Given the description of an element on the screen output the (x, y) to click on. 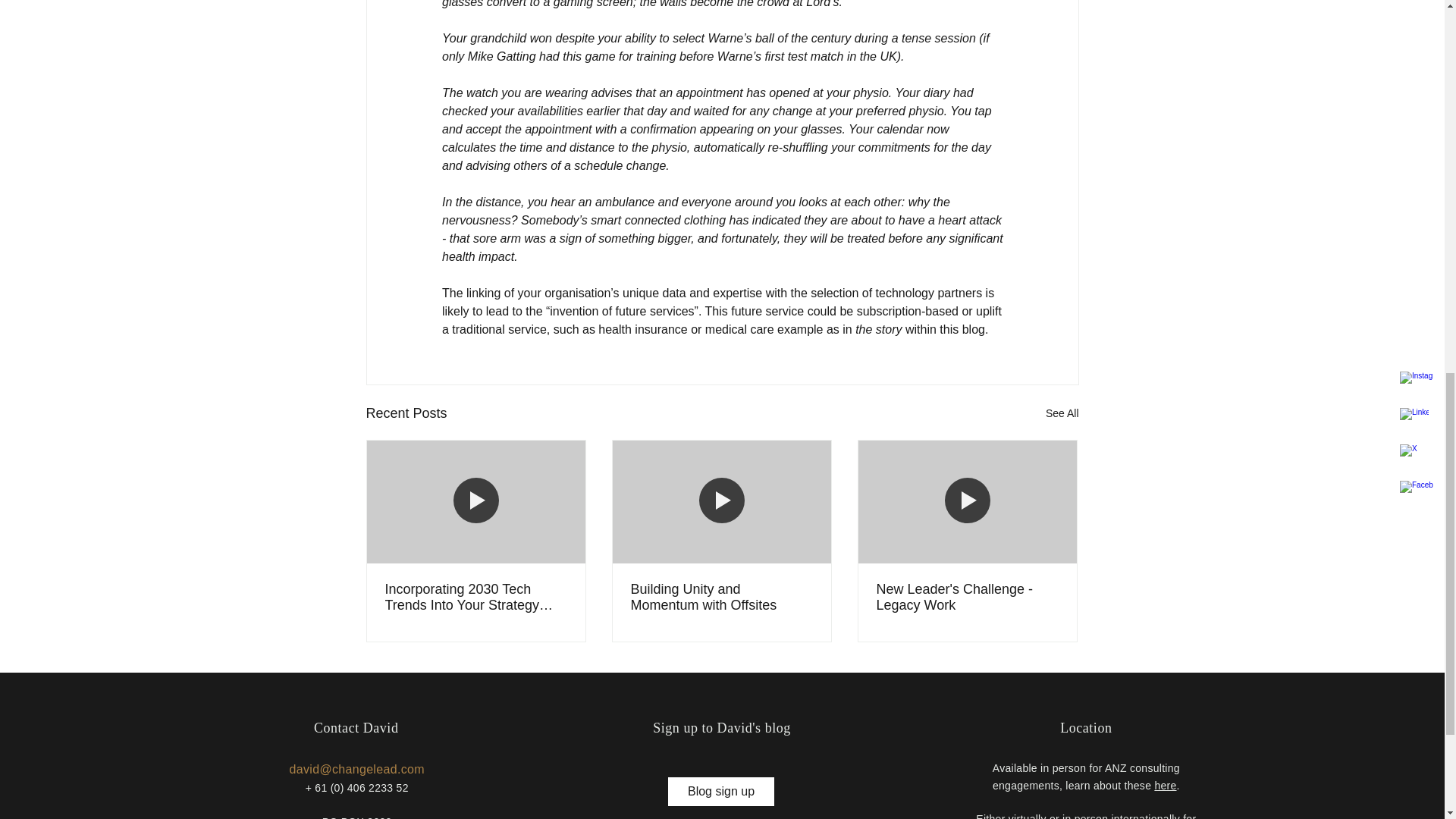
Building Unity and Momentum with Offsites (721, 597)
See All (1061, 413)
